Given the description of an element on the screen output the (x, y) to click on. 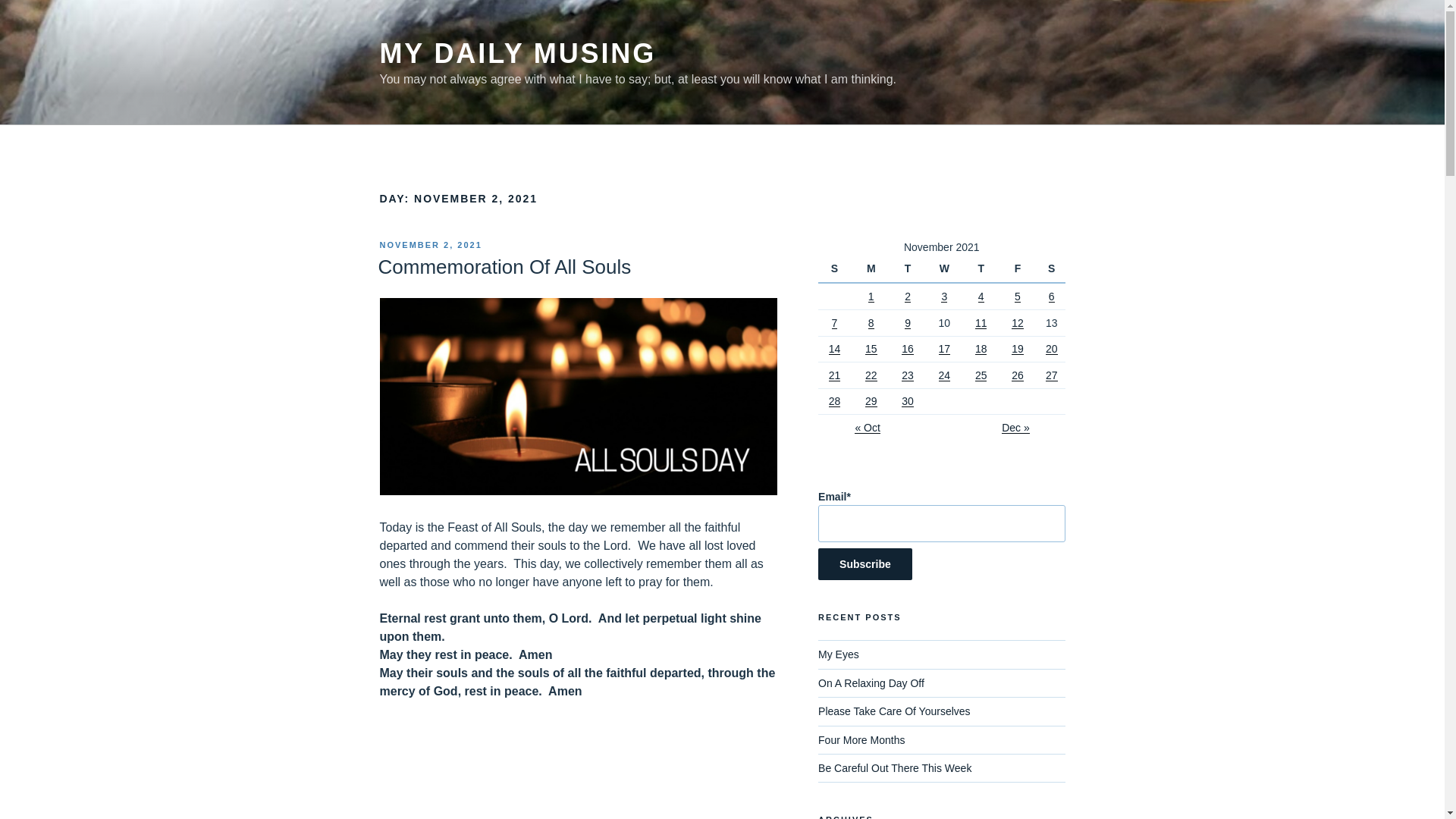
NOVEMBER 2, 2021 (429, 244)
Wednesday (945, 268)
14 (834, 348)
Saturday (1051, 268)
Thursday (982, 268)
Tuesday (909, 268)
16 (907, 348)
Four More Months (861, 739)
28 (834, 400)
Be Careful Out There This Week (894, 767)
